Given the description of an element on the screen output the (x, y) to click on. 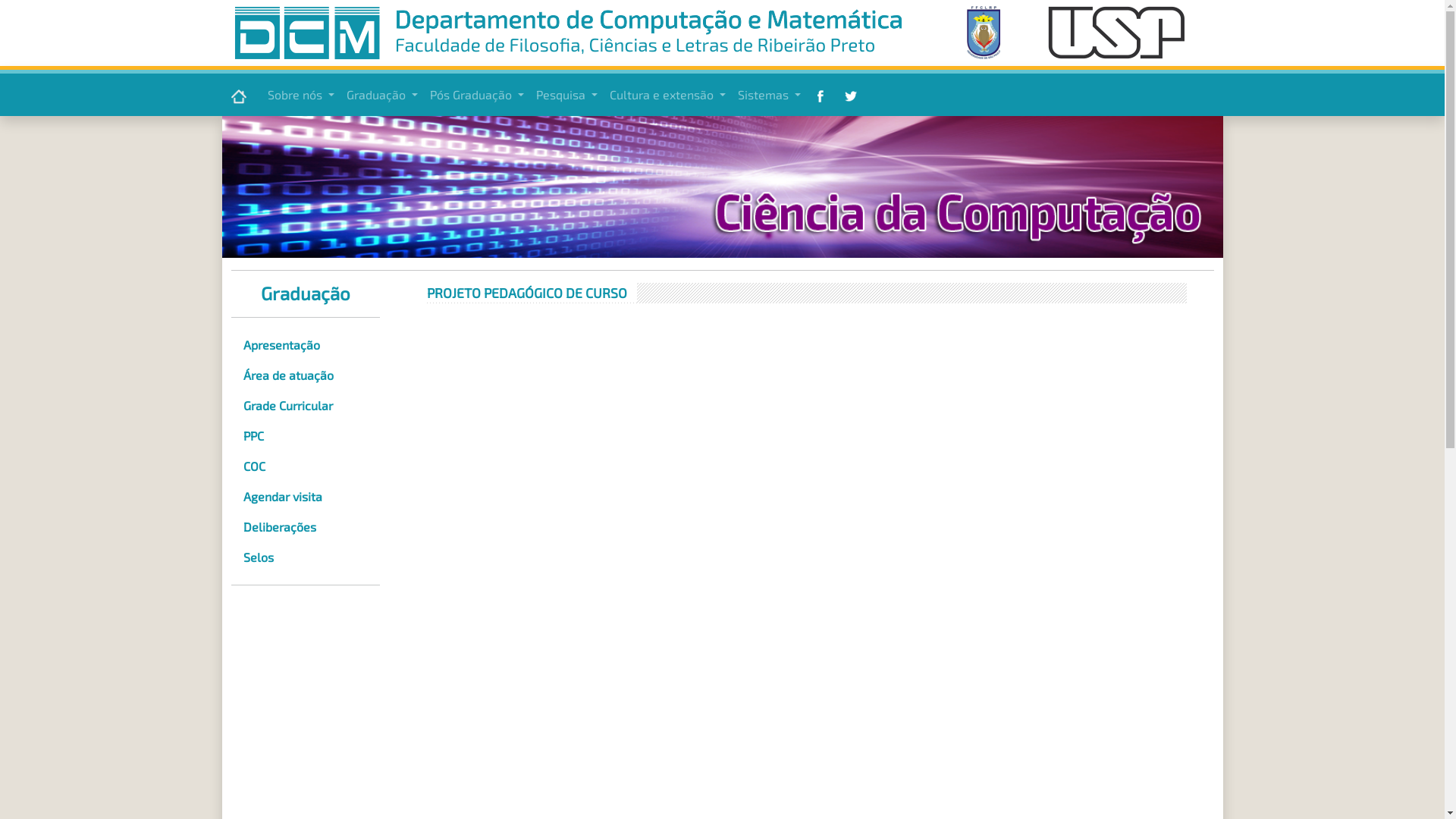
Selos Element type: text (304, 557)
  Element type: text (821, 94)
  Element type: text (239, 95)
PPC Element type: text (304, 435)
Pesquisa Element type: text (566, 94)
Grade Curricular Element type: text (304, 405)
  Element type: text (852, 94)
COC Element type: text (304, 466)
Agendar visita Element type: text (304, 496)
Sistemas Element type: text (768, 94)
